Given the description of an element on the screen output the (x, y) to click on. 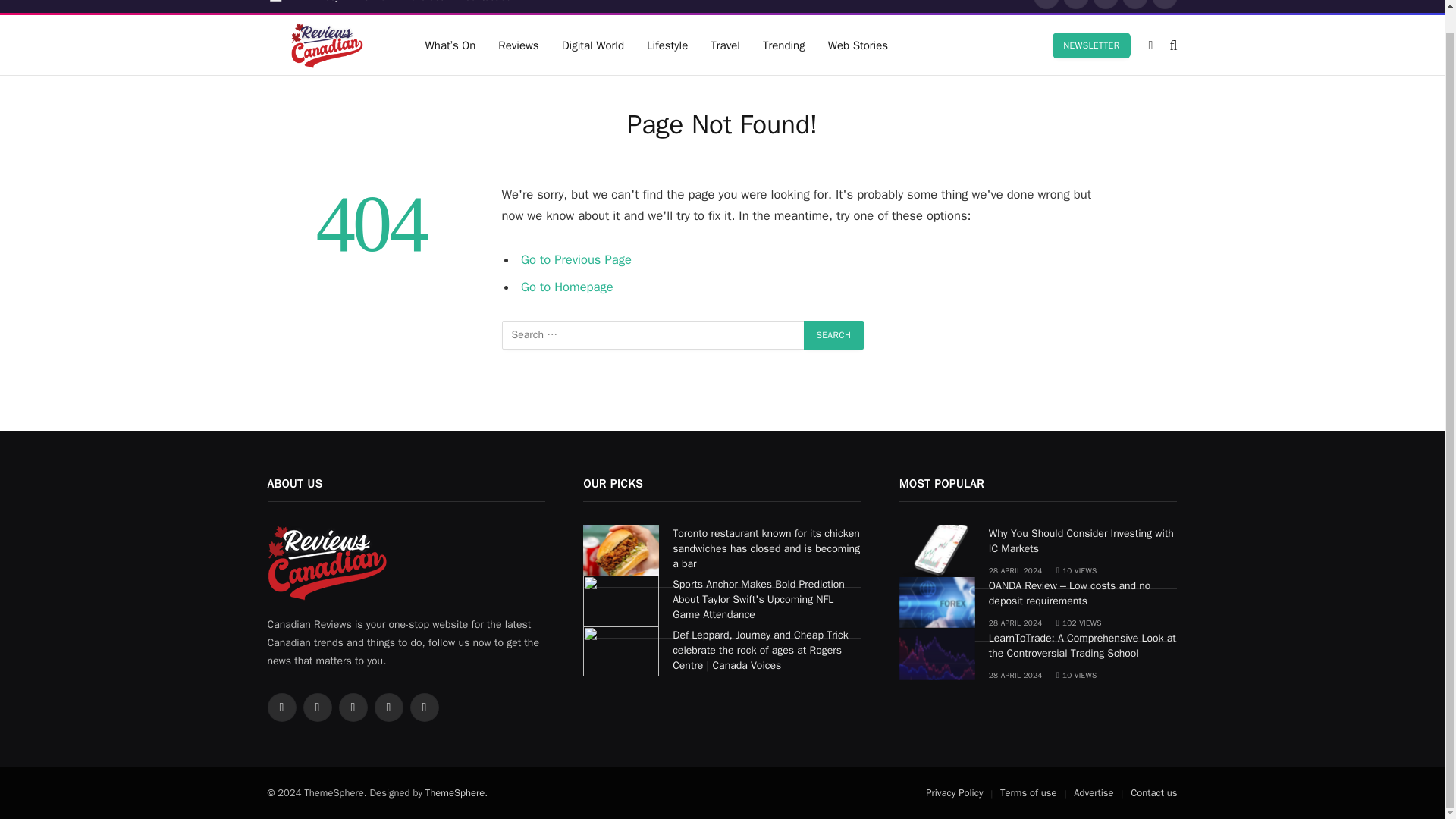
Vimeo (1164, 4)
Canadian Reviews (326, 45)
Instagram (1105, 4)
Search (833, 335)
Search (833, 335)
Advertise (425, 6)
Privacy (324, 6)
Facebook (1046, 4)
Terms (371, 6)
Lifestyle (666, 45)
Switch to Dark Design - easier on eyes. (1150, 45)
Contact us (487, 6)
Pinterest (1135, 4)
Digital World (592, 45)
Reviews (518, 45)
